Given the description of an element on the screen output the (x, y) to click on. 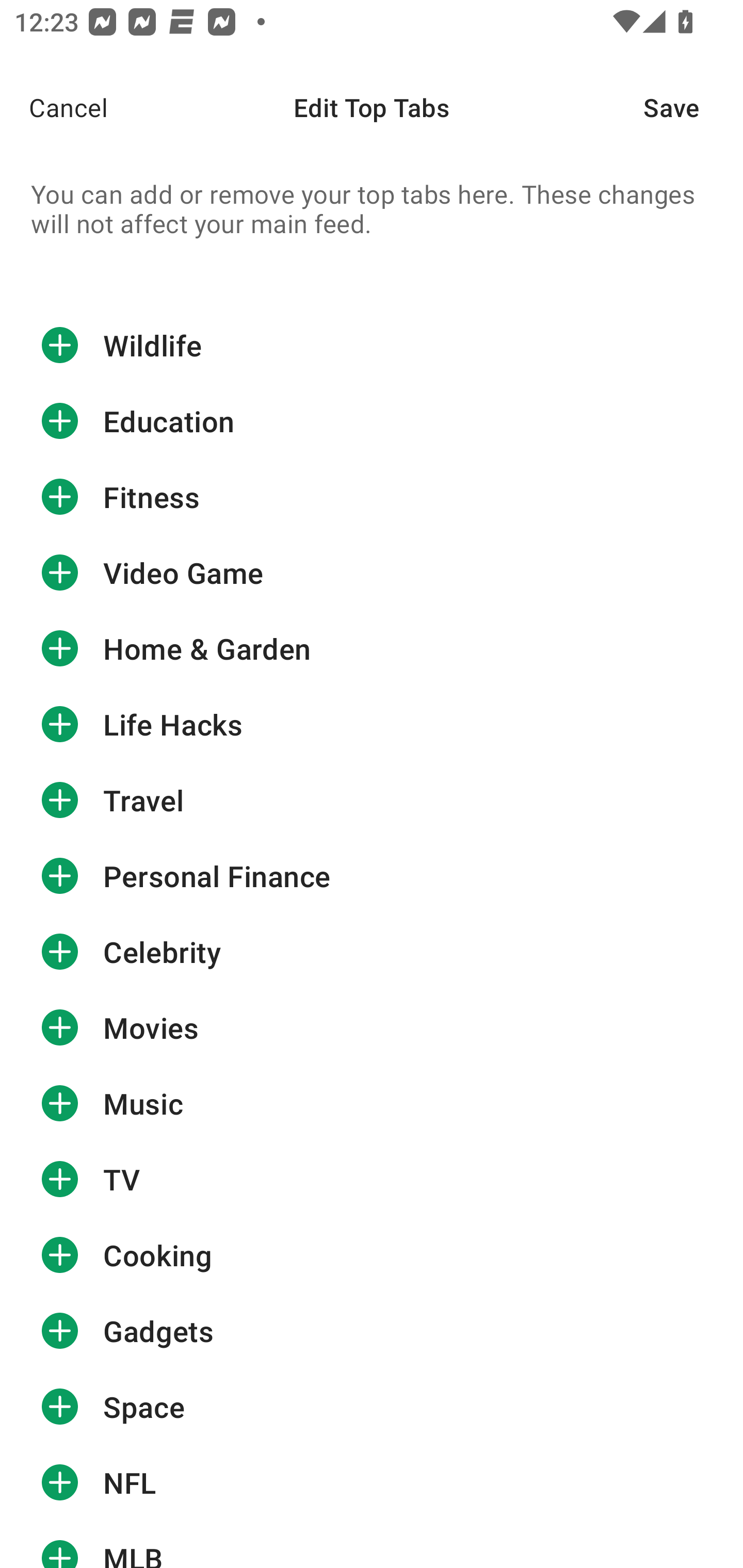
Cancel (53, 106)
Save (693, 106)
Wildlife (371, 344)
Education (371, 420)
Fitness (371, 496)
Video Game (371, 571)
Home & Garden (371, 647)
Life Hacks (371, 724)
Travel (371, 800)
Personal Finance (371, 876)
Celebrity (371, 951)
Movies (371, 1027)
Music (371, 1103)
TV (371, 1178)
Cooking (371, 1254)
Gadgets (371, 1330)
Space (371, 1406)
NFL (371, 1482)
MLB (371, 1544)
